Given the description of an element on the screen output the (x, y) to click on. 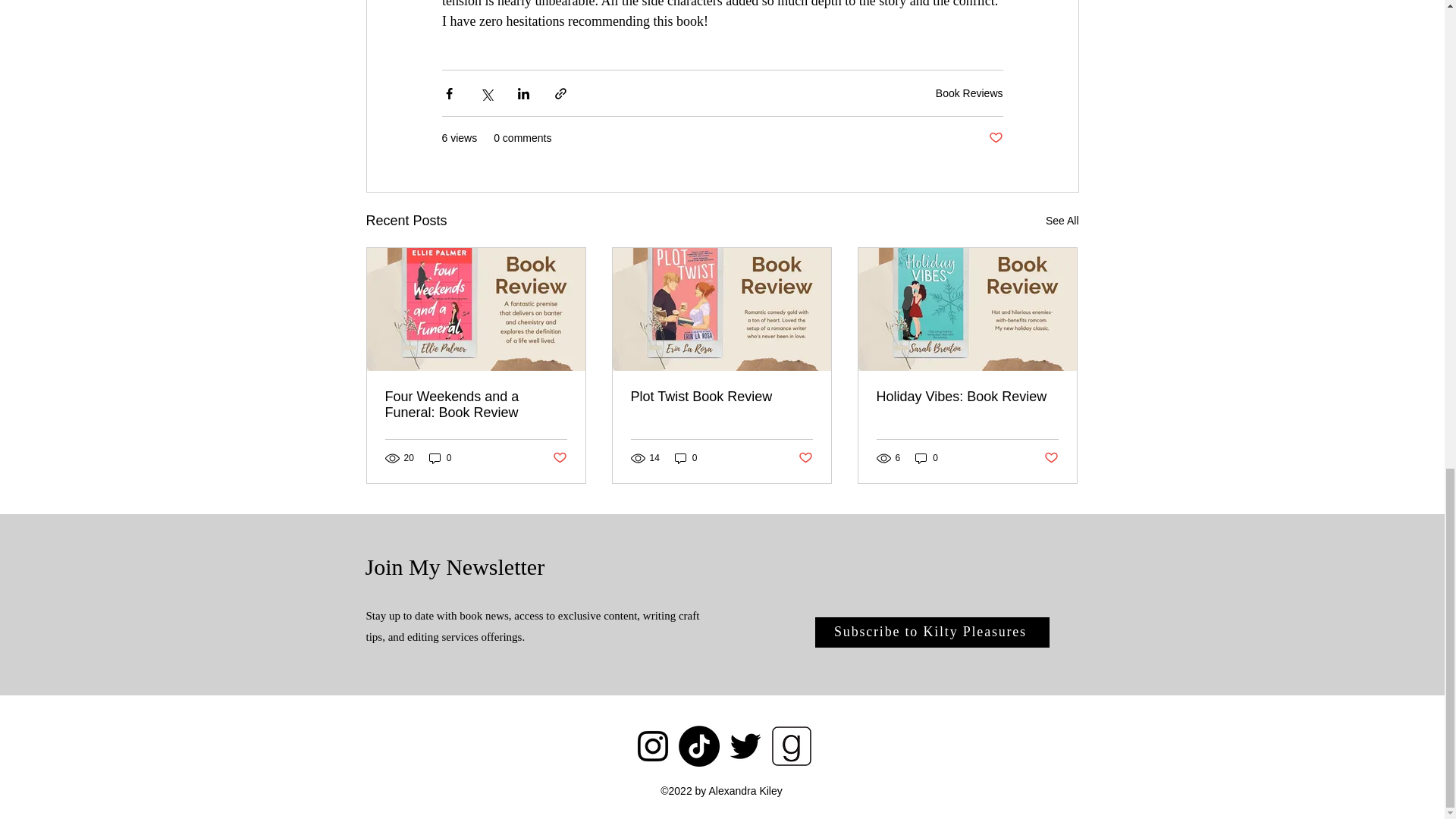
Plot Twist Book Review (721, 396)
Post not marked as liked (804, 458)
0 (440, 457)
0 (685, 457)
See All (1061, 220)
Post not marked as liked (995, 138)
Book Reviews (969, 92)
Four Weekends and a Funeral: Book Review (476, 404)
Post not marked as liked (558, 458)
